Given the description of an element on the screen output the (x, y) to click on. 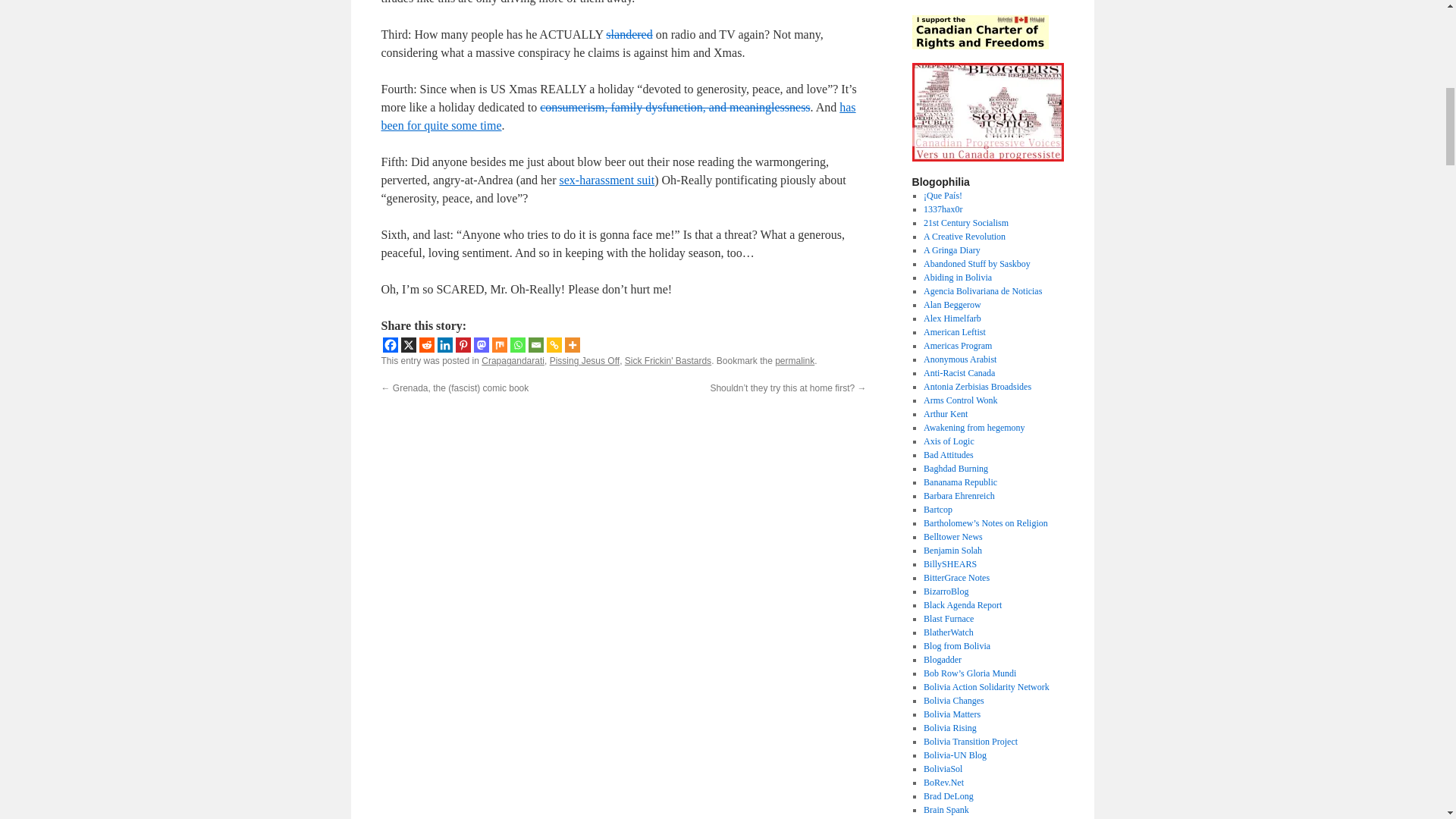
Mix (499, 344)
More (571, 344)
A Creative Revolution (964, 235)
permalink (793, 360)
Linkedin (443, 344)
Email (535, 344)
Pissing Jesus Off (585, 360)
21st Century Socialism (966, 222)
Copy Link (553, 344)
sex-harassment suit (628, 33)
consumerism, family dysfunction, and meaninglessness (606, 179)
Sick Frickin' Bastards (674, 106)
1337hax0r (667, 360)
